Given the description of an element on the screen output the (x, y) to click on. 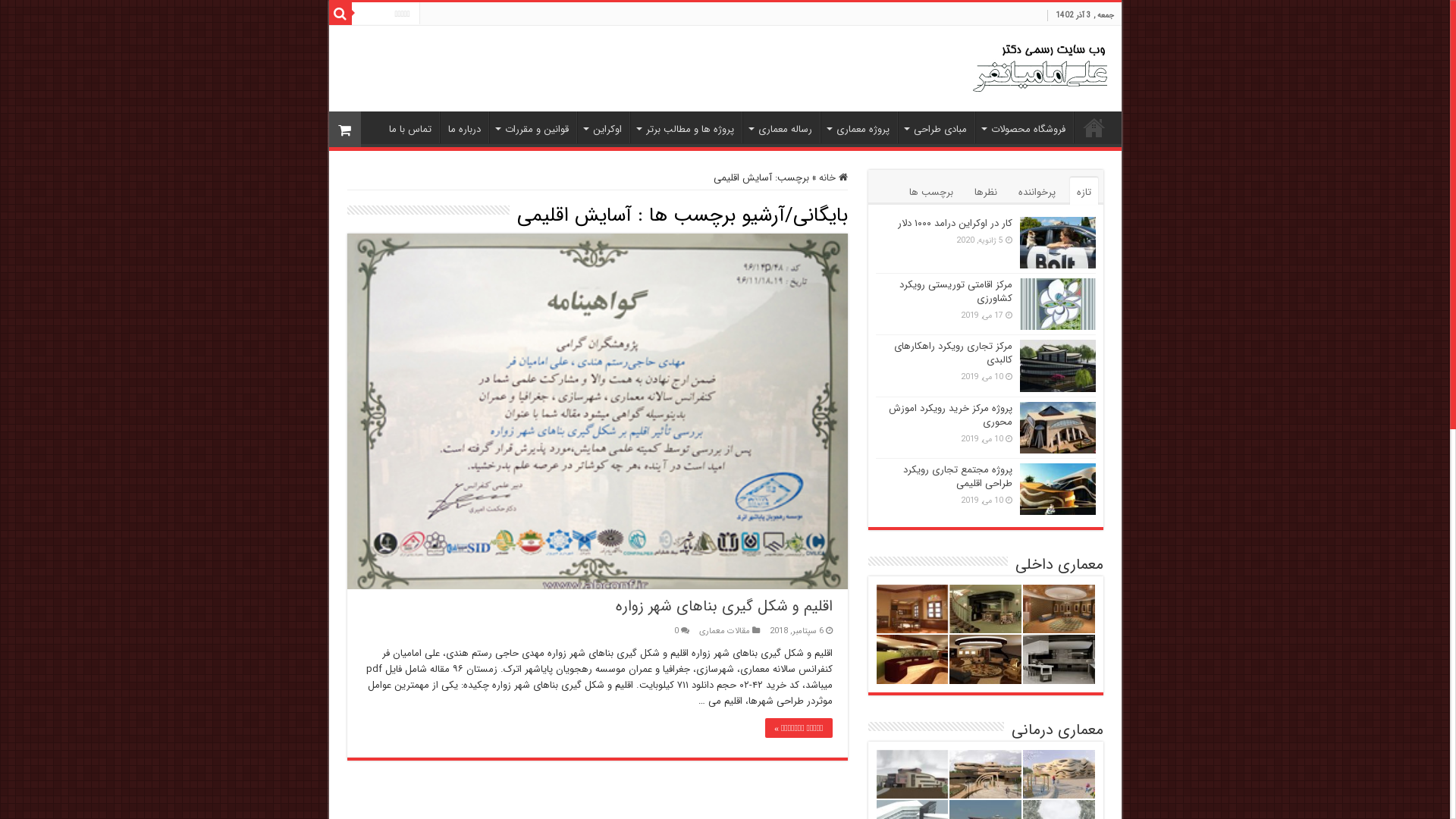
0 Element type: text (675, 630)
